Given the description of an element on the screen output the (x, y) to click on. 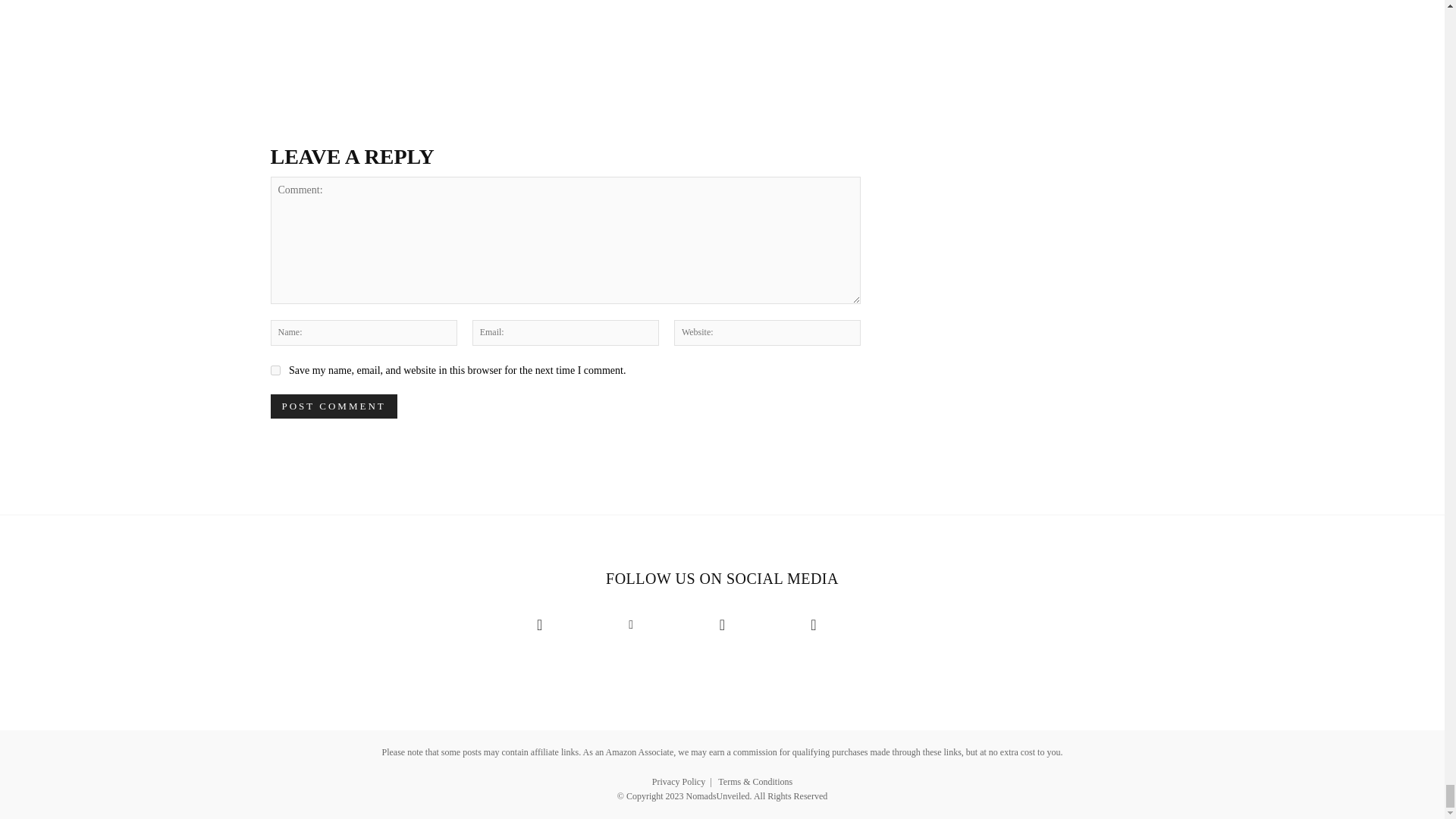
yes (274, 370)
Post Comment (332, 405)
